Given the description of an element on the screen output the (x, y) to click on. 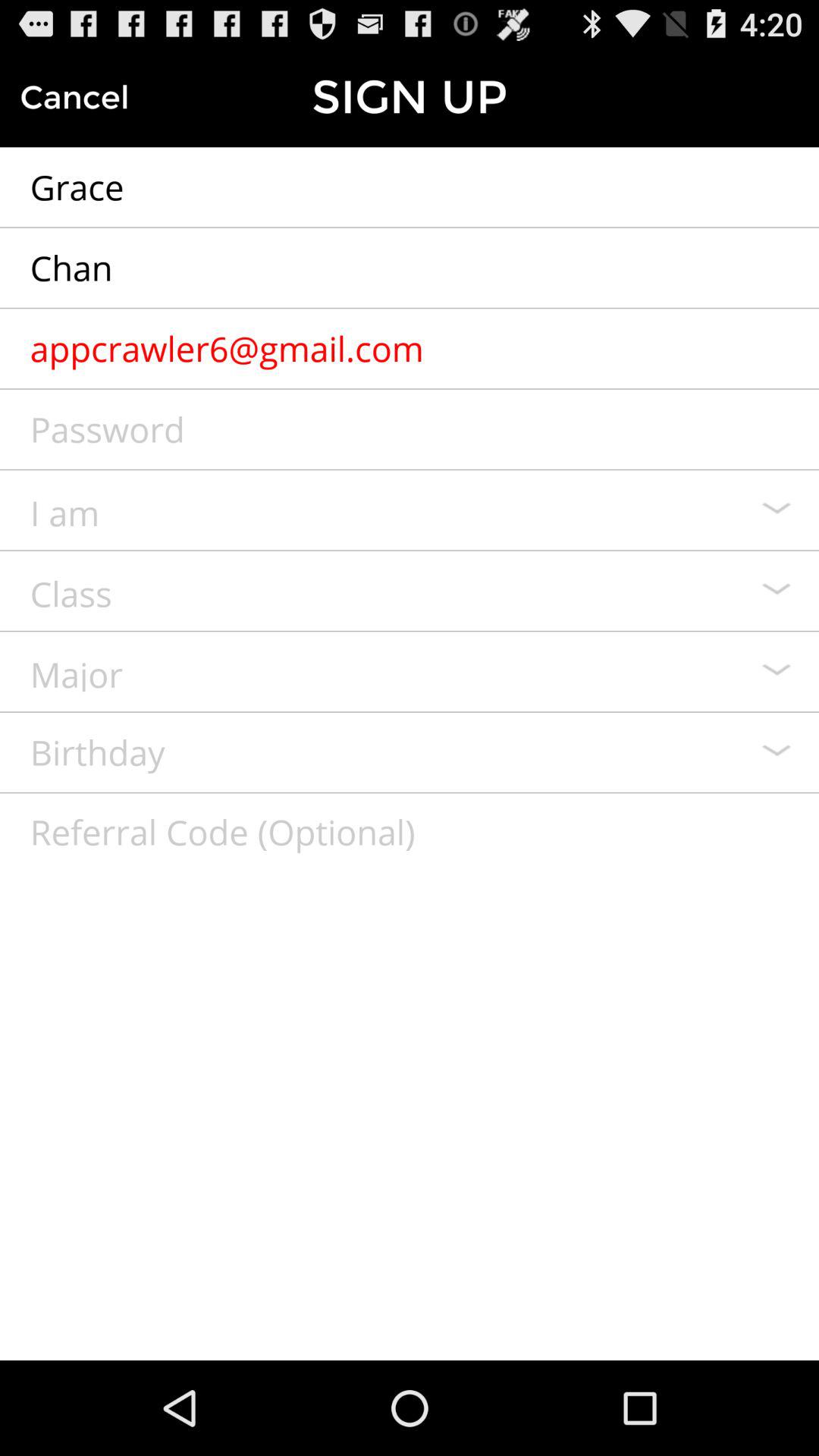
birthday file in sign up form (409, 752)
